Given the description of an element on the screen output the (x, y) to click on. 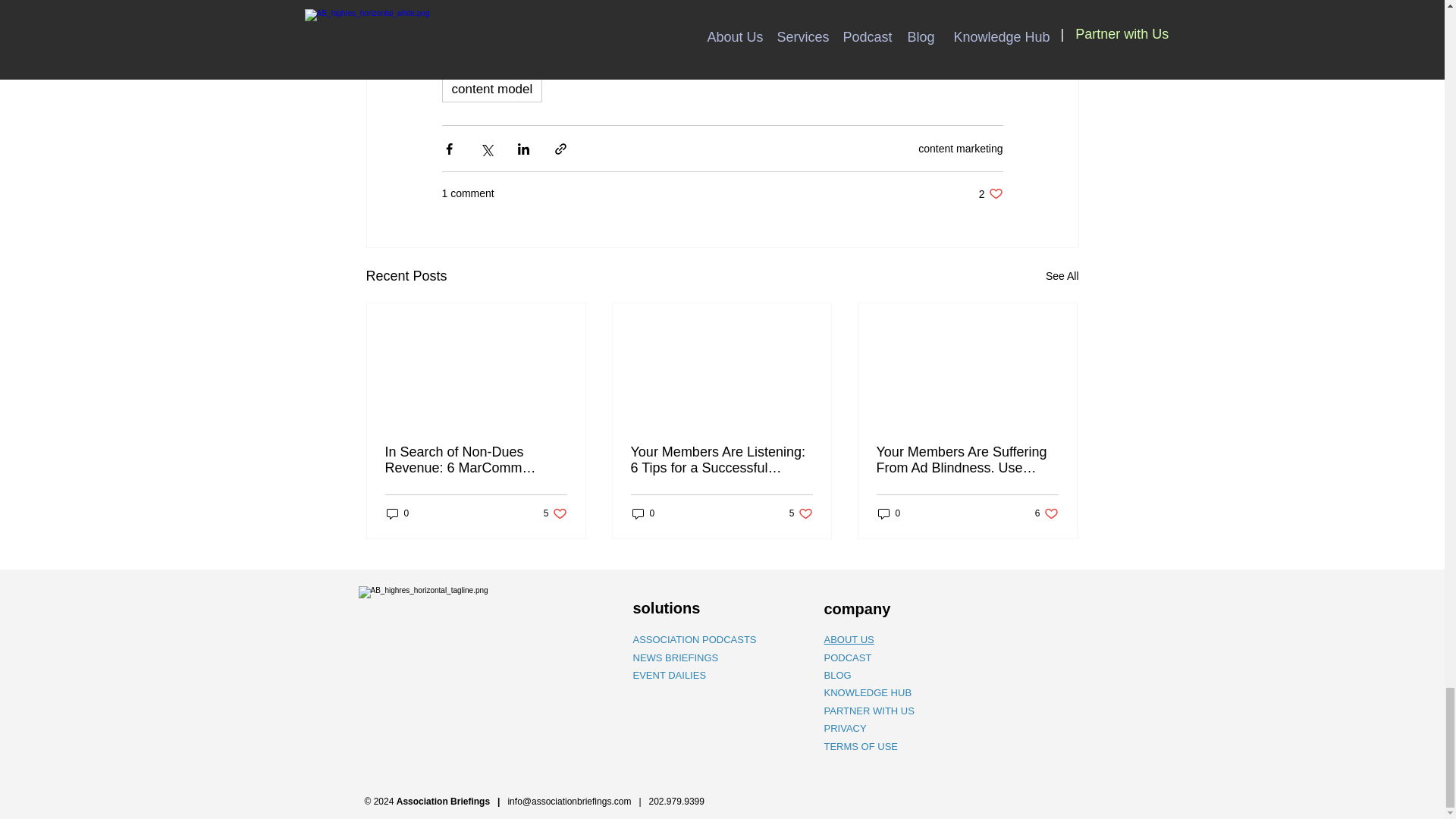
content marketing (960, 148)
lead gen (990, 193)
content (700, 57)
See All (600, 25)
lead generation (1061, 276)
SEO (606, 57)
customer journey (778, 25)
content hub (867, 25)
content strategy (895, 57)
hub and spoke (693, 25)
content model (793, 57)
content marketing (491, 89)
buyers journey (502, 25)
